Given the description of an element on the screen output the (x, y) to click on. 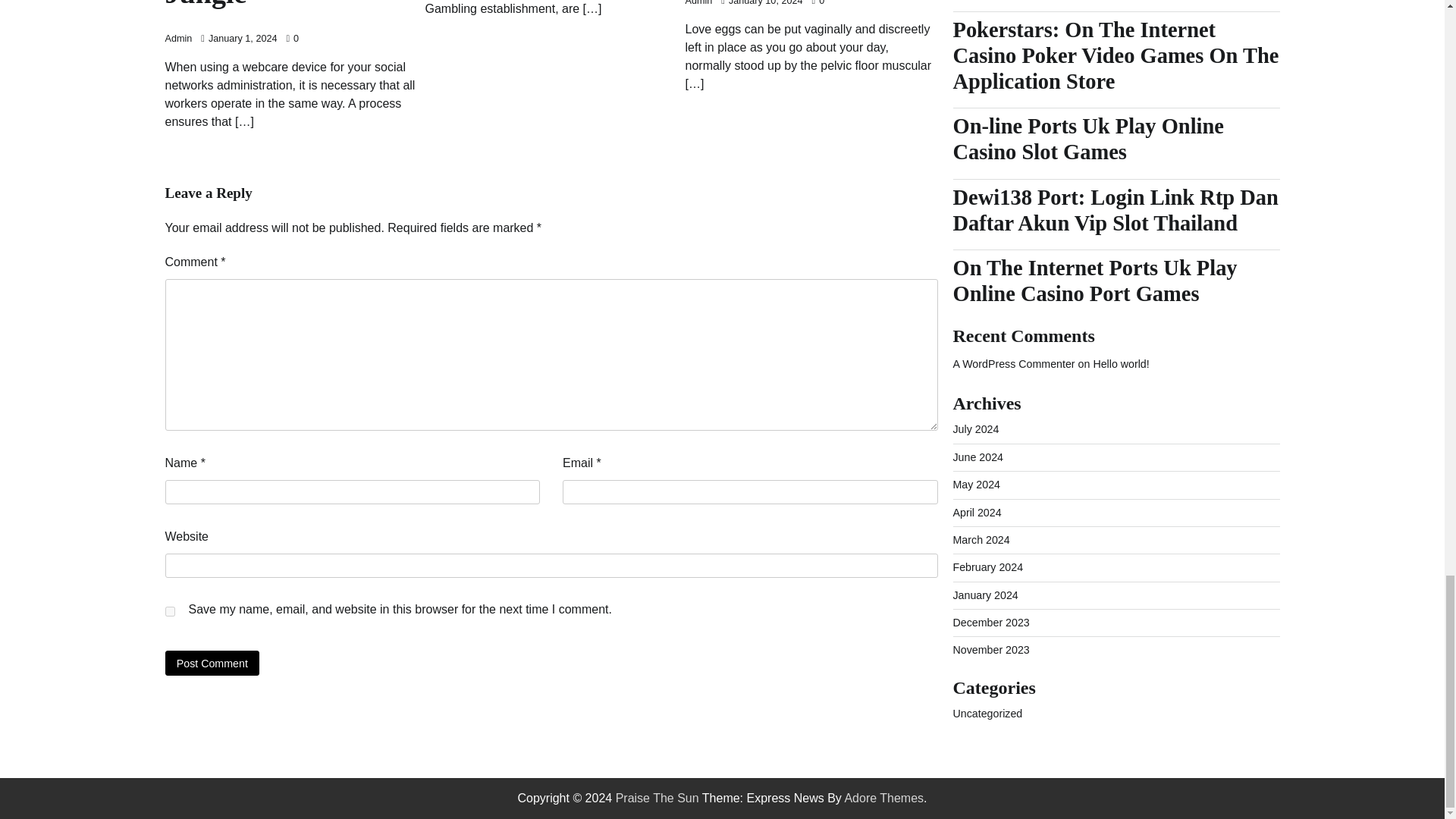
Post Comment (212, 662)
Admin (178, 38)
yes (169, 611)
Admin (699, 2)
Post Comment (212, 662)
